Given the description of an element on the screen output the (x, y) to click on. 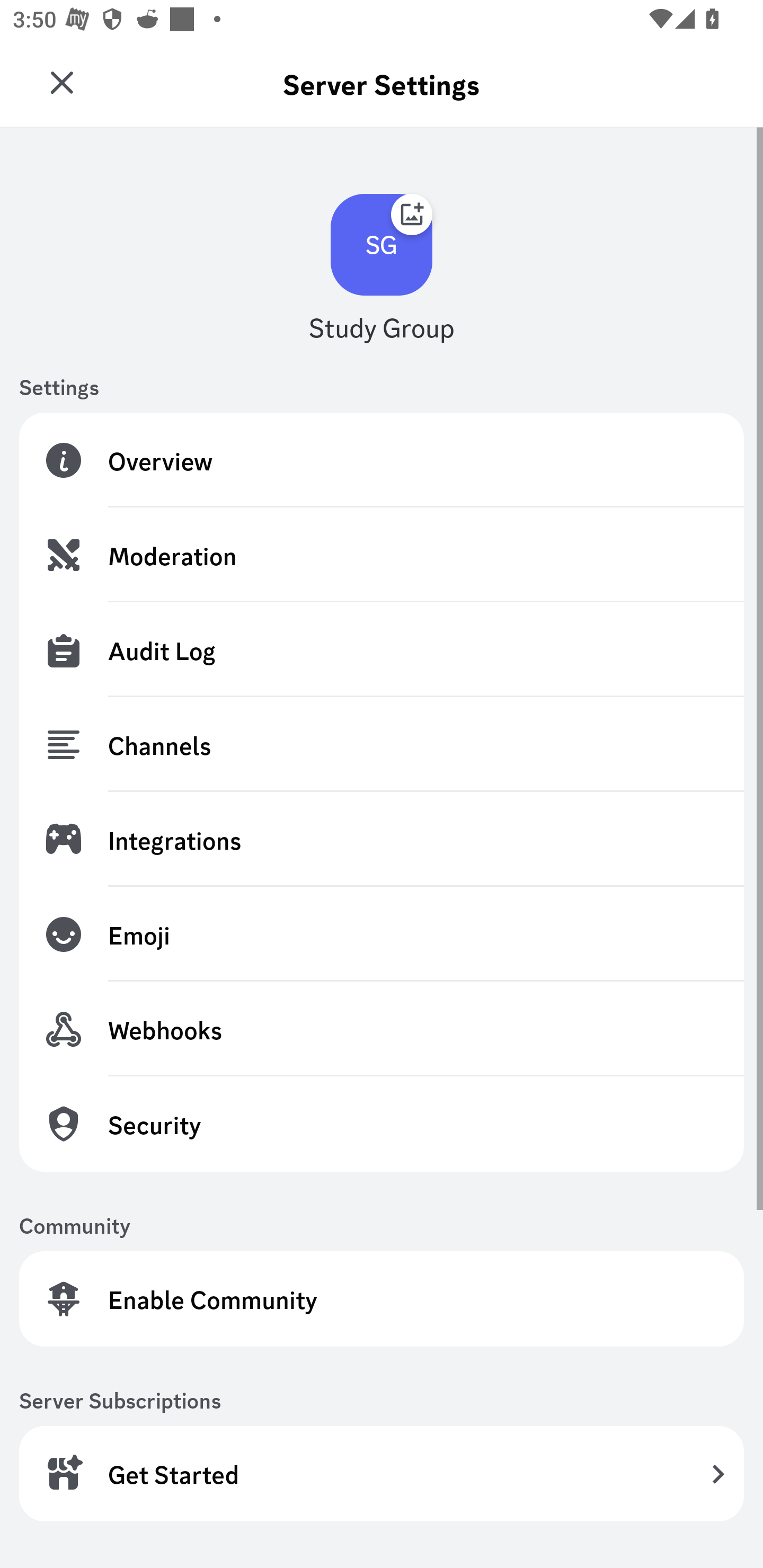
  Study Group SG (66, 75)
Upload Image SG (381, 245)
Overview (381, 460)
Moderation (381, 555)
Audit Log (381, 649)
Channels (381, 744)
Integrations (381, 839)
Emoji (381, 934)
Webhooks (381, 1029)
Security (381, 1123)
Enable Community (381, 1298)
Get Started (381, 1472)
